Given the description of an element on the screen output the (x, y) to click on. 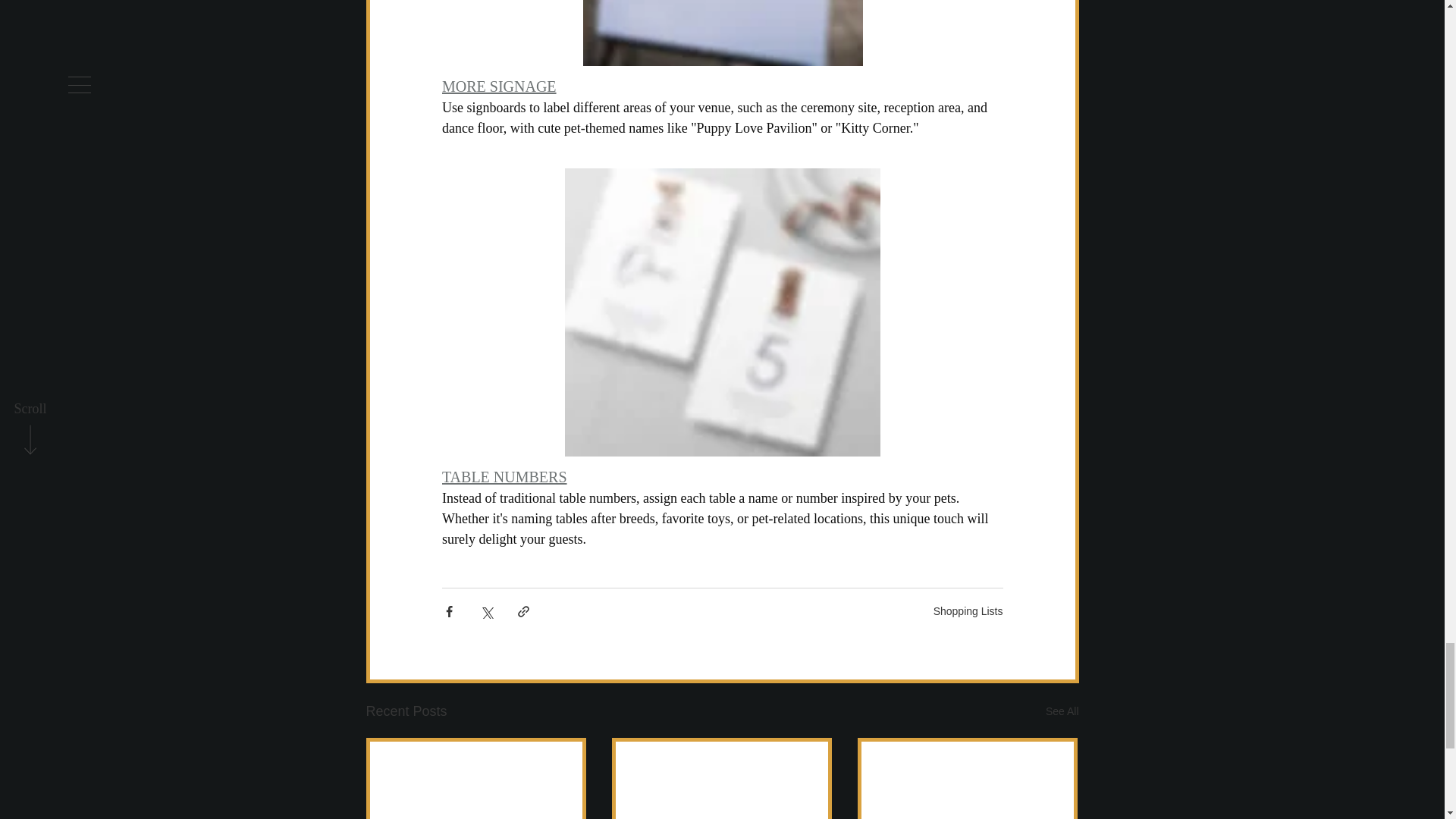
MORE SIGNAGE (498, 86)
TABLE NUMBERS (503, 476)
See All (1061, 711)
Shopping Lists (968, 611)
